Given the description of an element on the screen output the (x, y) to click on. 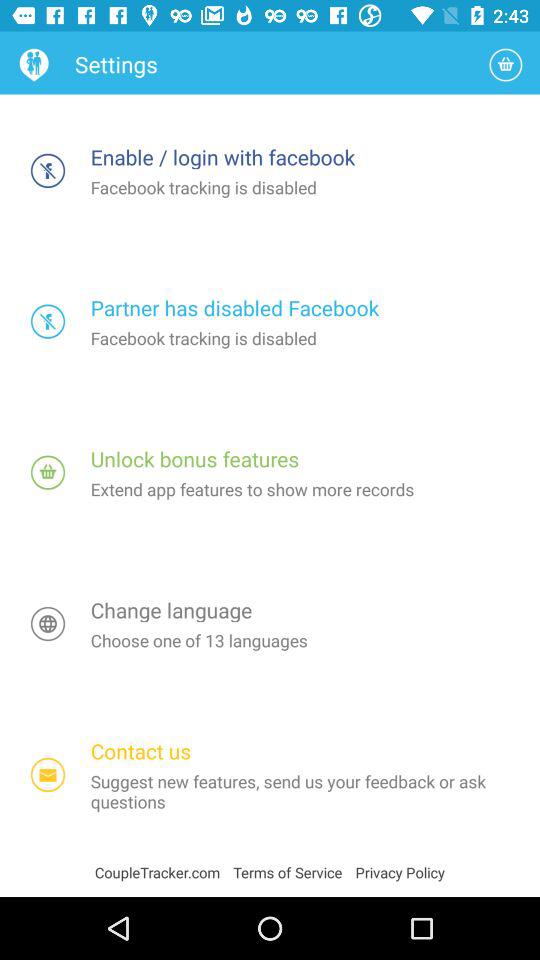
show more details (47, 472)
